Given the description of an element on the screen output the (x, y) to click on. 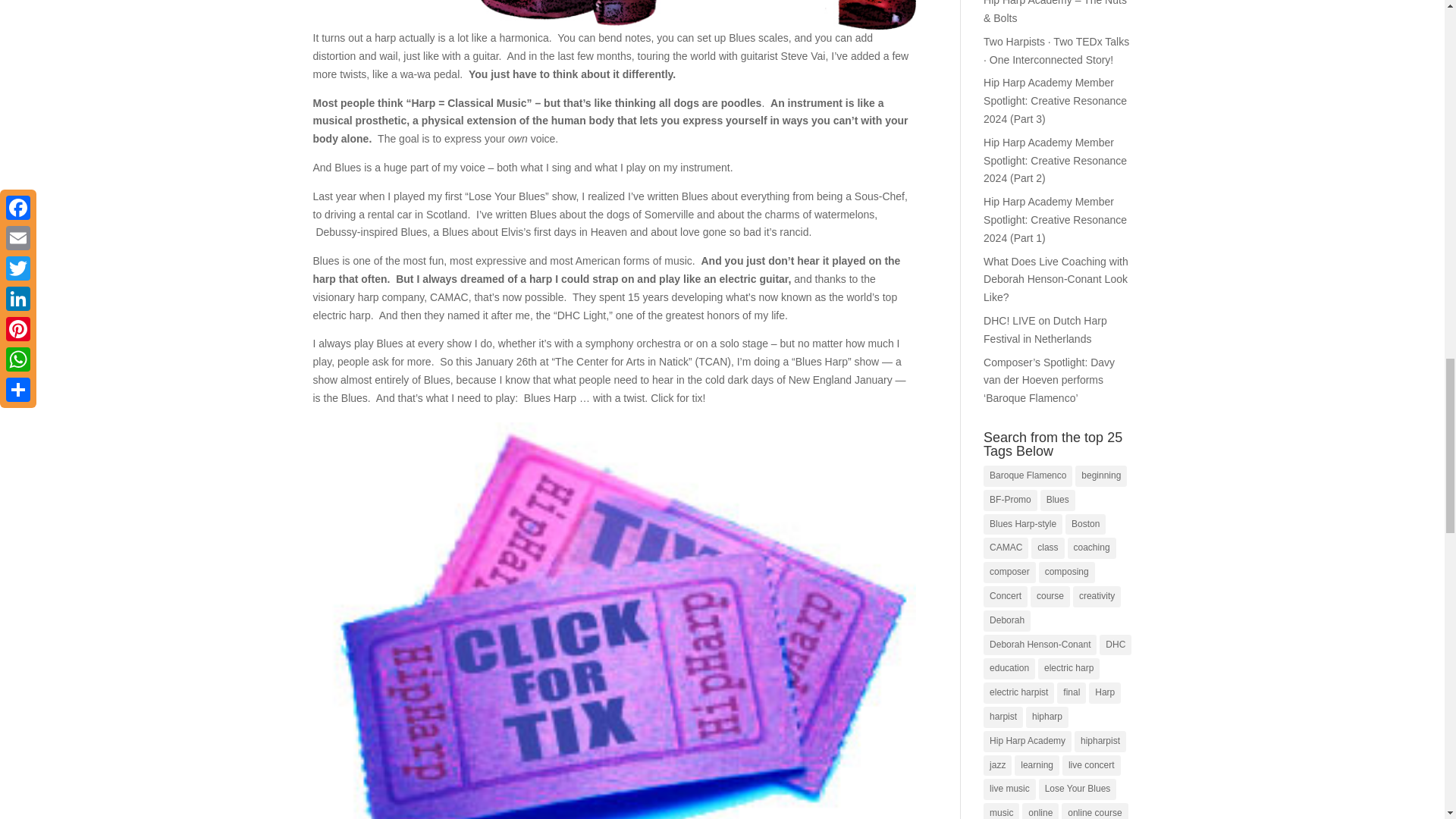
DHC-Harley-posterized (614, 15)
